Given the description of an element on the screen output the (x, y) to click on. 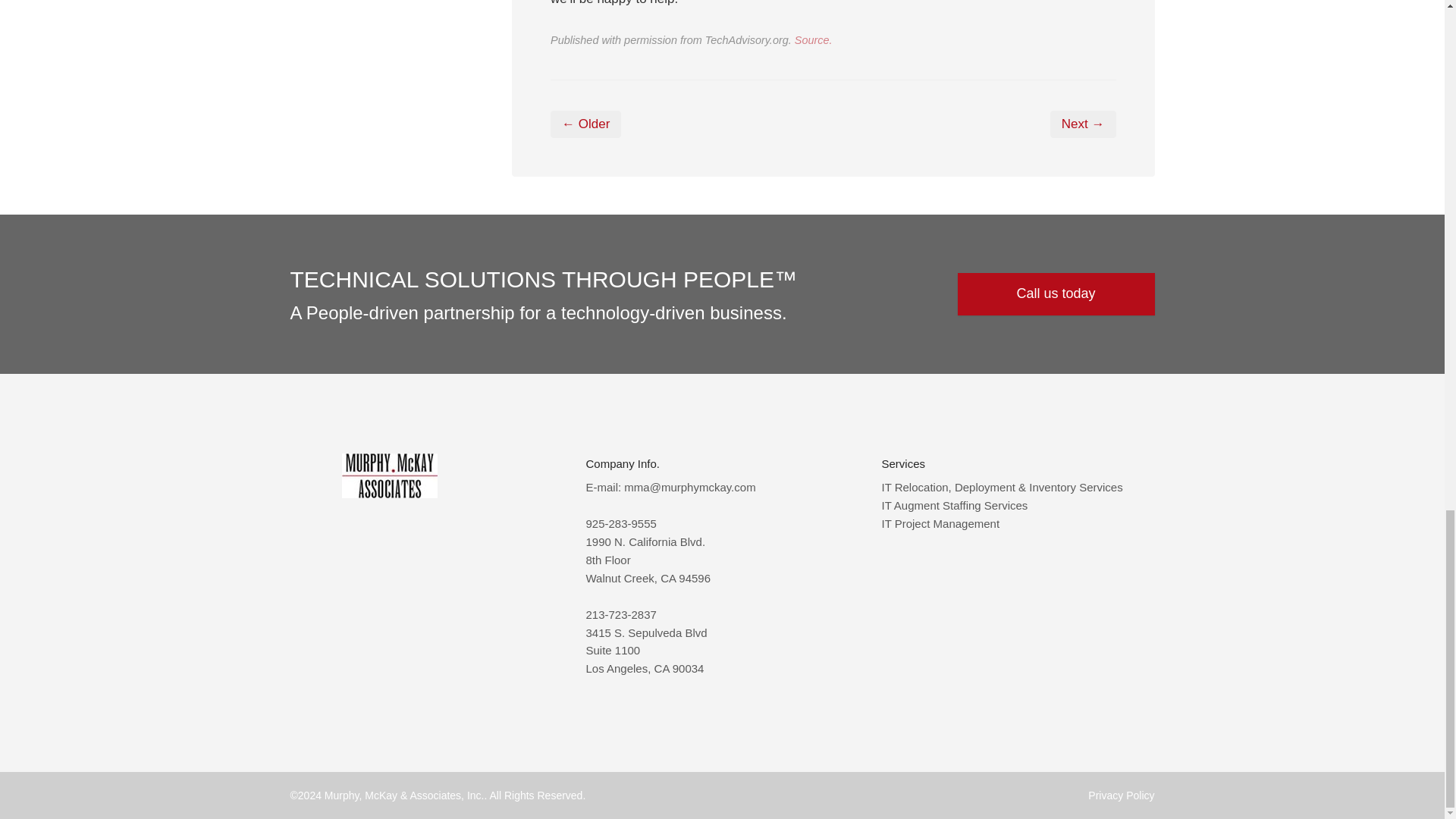
Source. (813, 39)
IT Project Management (939, 522)
Call us today (1055, 293)
Privacy Policy (1120, 795)
IT Augment Staffing Services (953, 504)
